Given the description of an element on the screen output the (x, y) to click on. 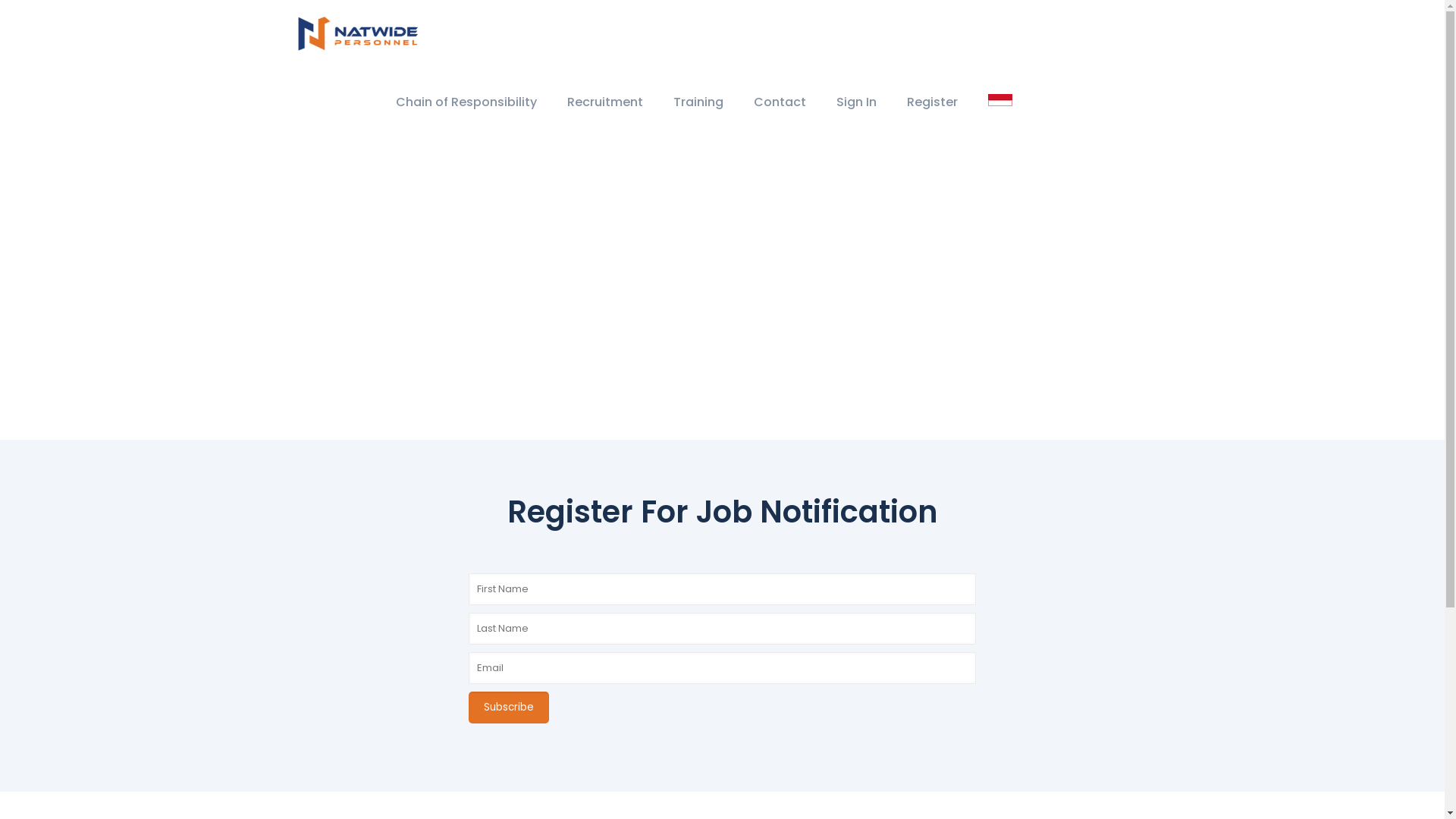
Contact Element type: text (779, 102)
Sign In Element type: text (855, 102)
Subscribe Element type: text (508, 707)
Training Element type: text (698, 102)
Natwide Personnel Element type: hover (355, 34)
Register Element type: text (931, 102)
Recruitment Element type: text (605, 102)
Chain of Responsibility Element type: text (466, 102)
